Given the description of an element on the screen output the (x, y) to click on. 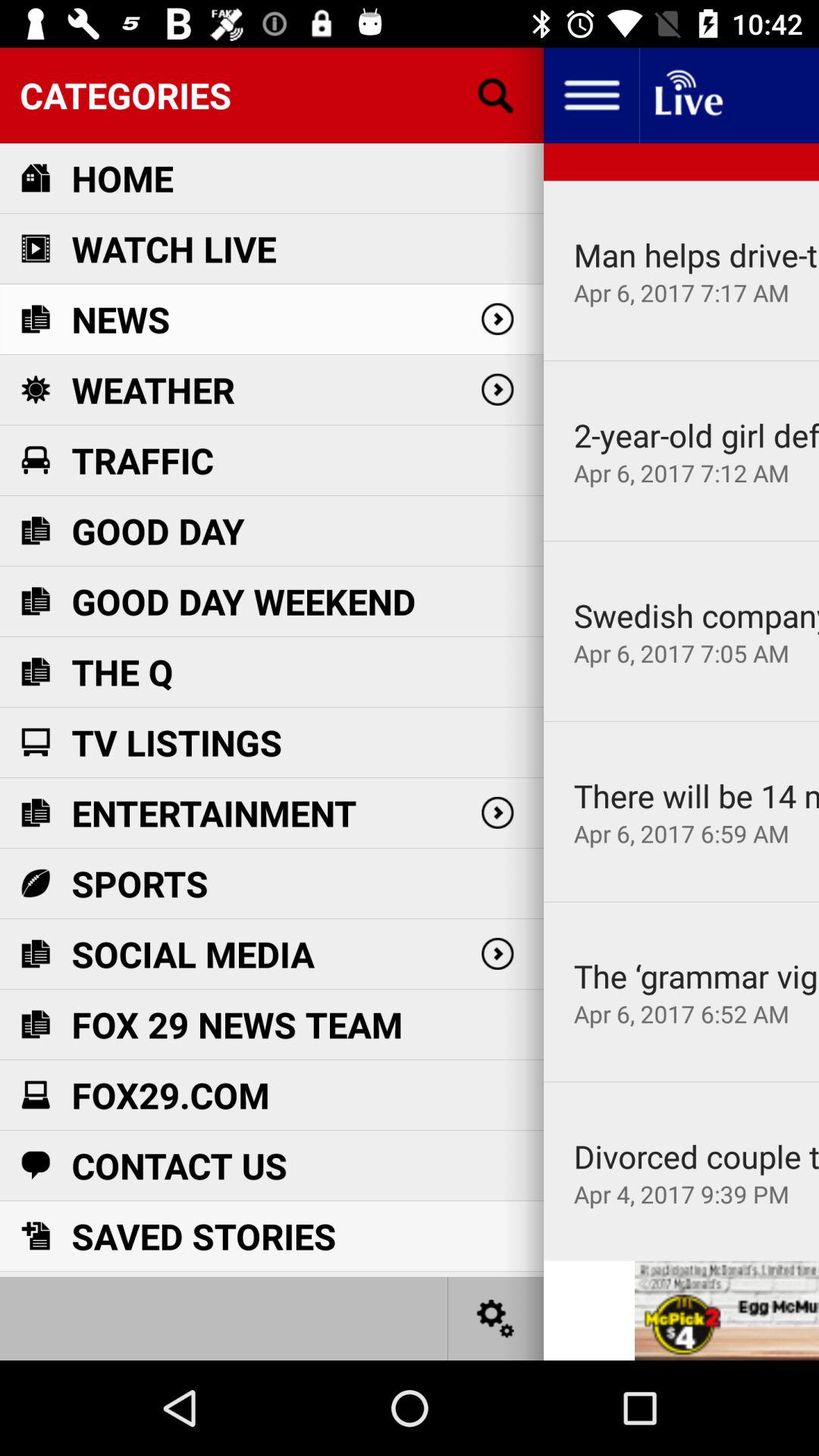
select advertisement (726, 1310)
